Given the description of an element on the screen output the (x, y) to click on. 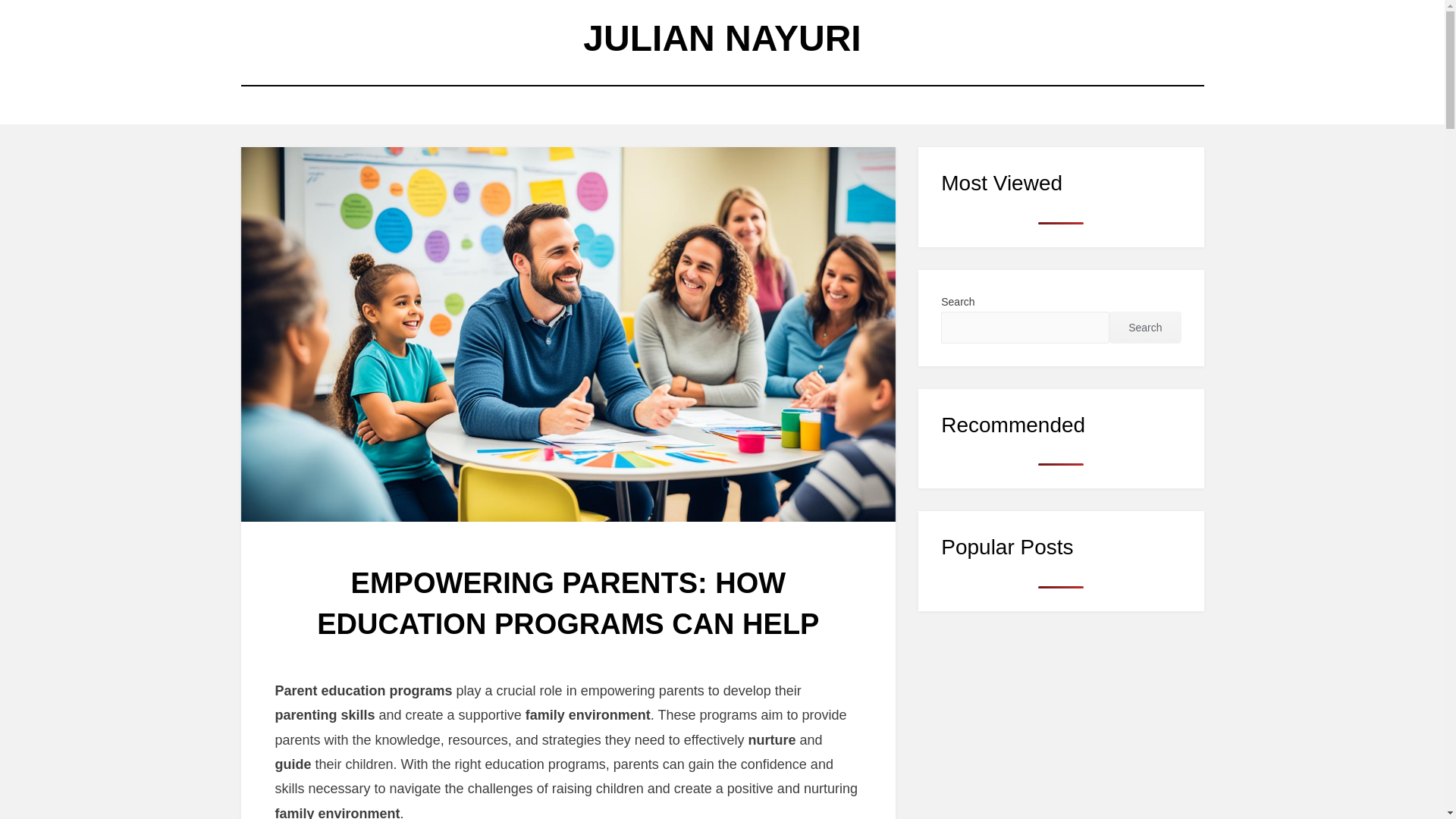
April 3, 2024 (602, 661)
JULIAN NAYURI (721, 38)
Search (1144, 327)
Julian Nayuri (721, 38)
Julian (605, 661)
